Given the description of an element on the screen output the (x, y) to click on. 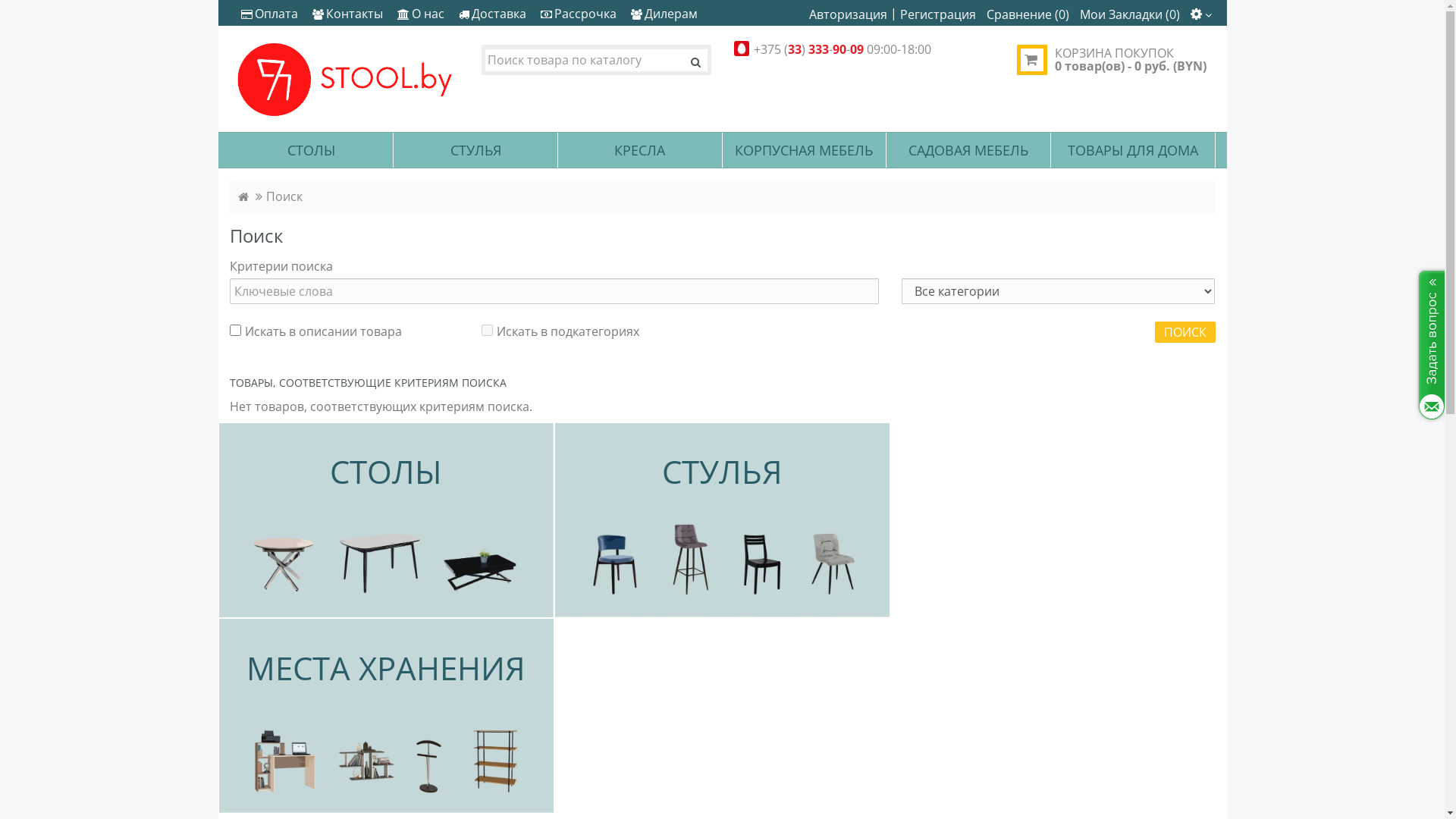
+375 (33) 333-90-09 Element type: text (808, 48)
https://www.stool.by/ Element type: hover (343, 79)
